Given the description of an element on the screen output the (x, y) to click on. 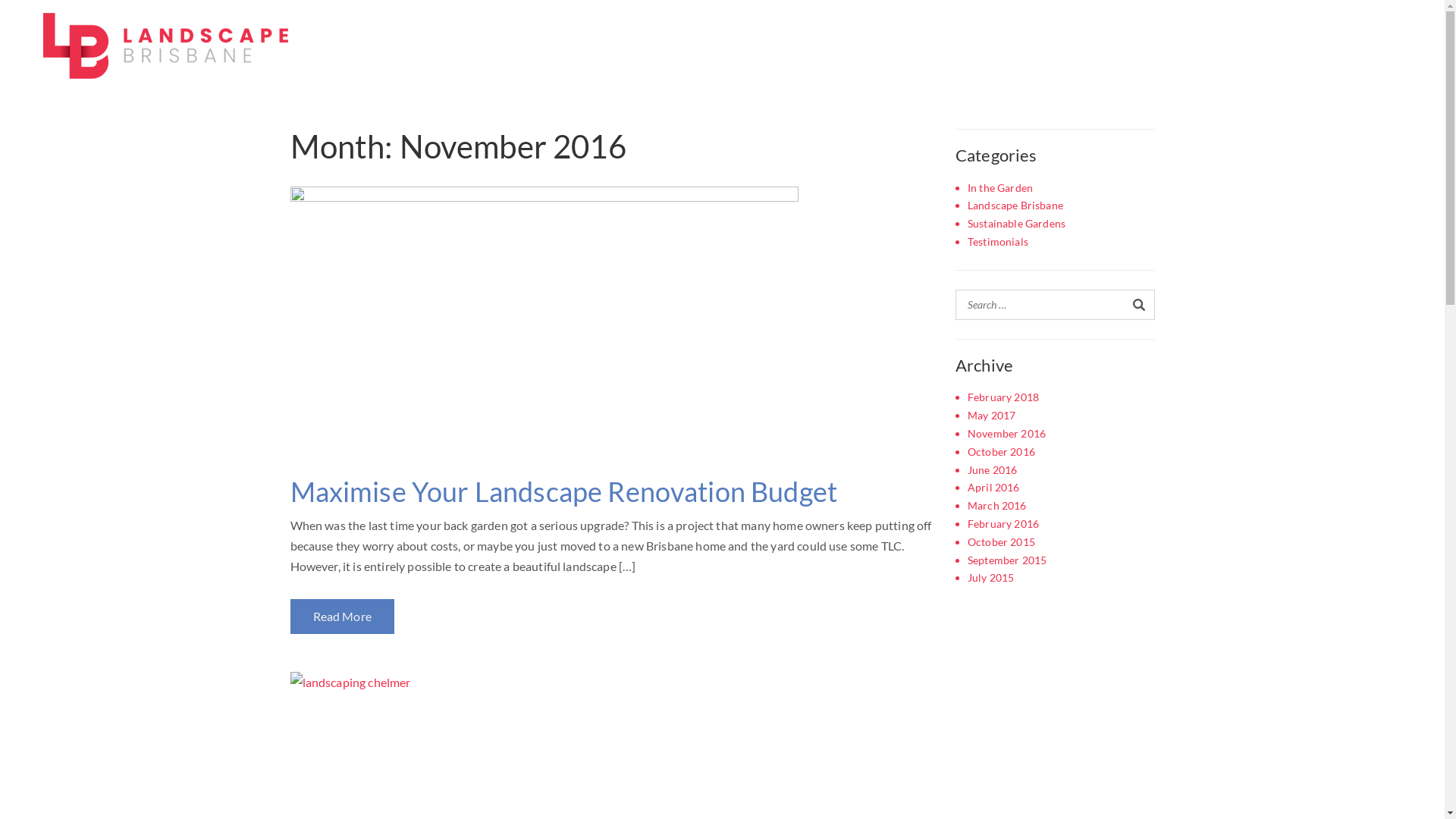
Landscape Brisbane logo colour Element type: hover (164, 45)
July 2015 Element type: text (990, 577)
September 2015 Element type: text (1006, 560)
February 2018 Element type: text (1002, 397)
April 2016 Element type: text (993, 487)
Testimonials Element type: text (997, 241)
Maximise Your Landscape Renovation Budget Element type: text (563, 491)
May 2017 Element type: text (991, 415)
Maximise Your Landscape Renovation Budget  Element type: hover (610, 323)
June 2016 Element type: text (991, 470)
October 2016 Element type: text (1001, 451)
Landscape Brisbane Element type: text (1015, 205)
October 2015 Element type: text (1001, 542)
Sustainable Gardens Element type: text (1016, 223)
Read More Element type: text (341, 616)
March 2016 Element type: text (996, 505)
In the Garden Element type: text (999, 187)
November 2016 Element type: text (1006, 433)
February 2016 Element type: text (1002, 523)
